Given the description of an element on the screen output the (x, y) to click on. 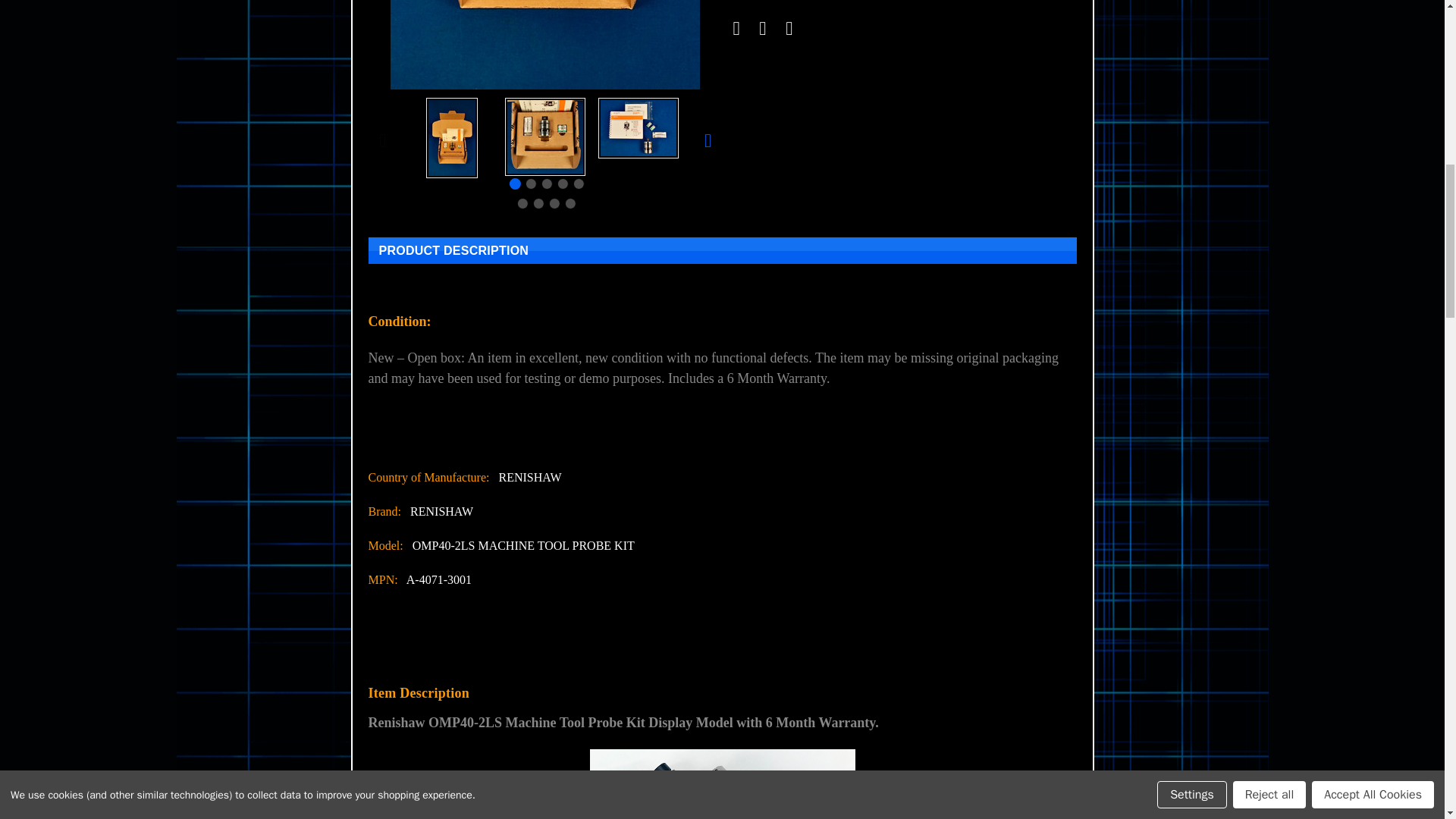
renishaw-omp40-2ls-machine-tool-probe-image-.jpeg (722, 784)
